Given the description of an element on the screen output the (x, y) to click on. 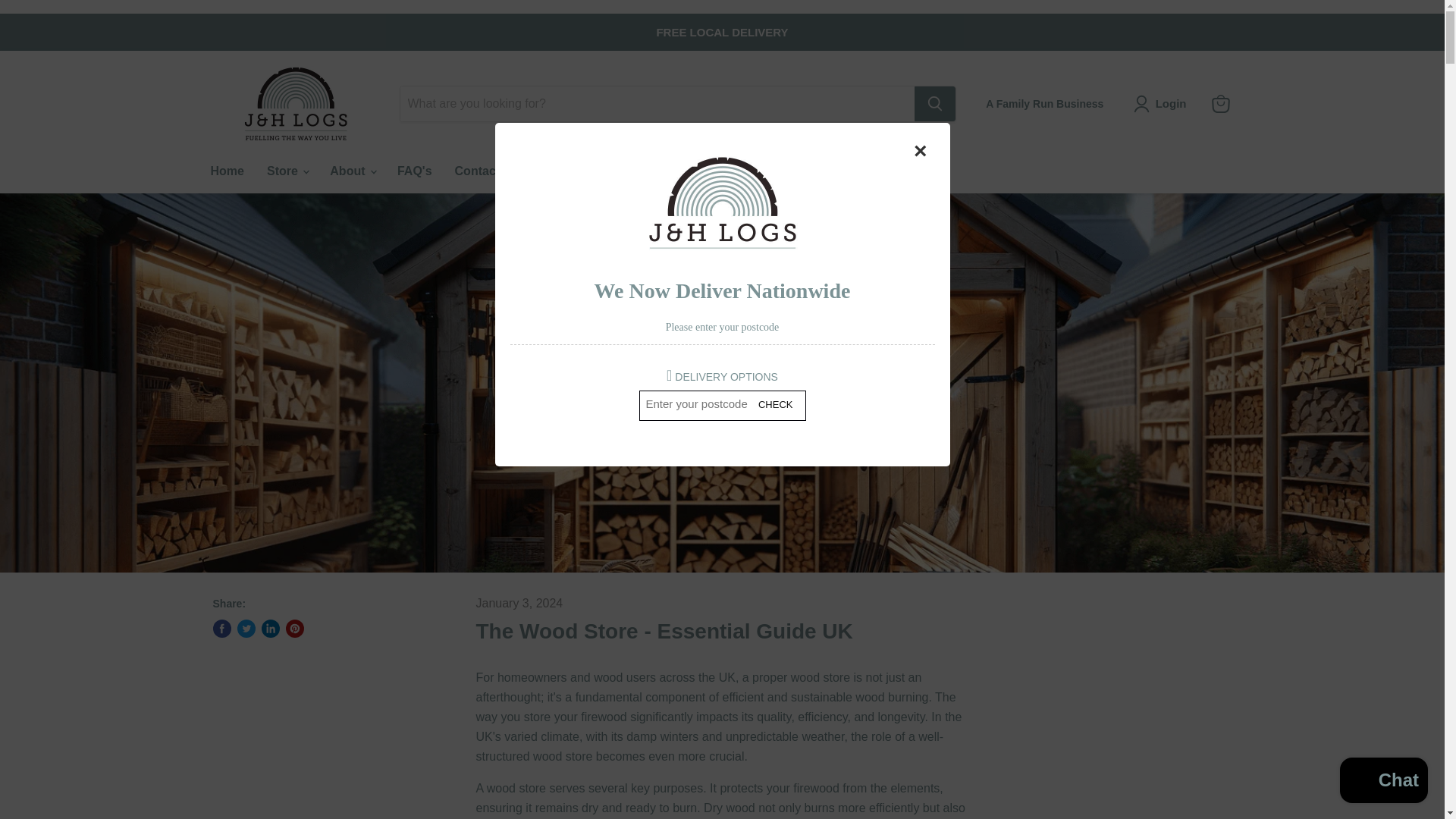
View cart (1220, 103)
FAQ's (414, 171)
Shopify online store chat (1383, 781)
A Family Run Business (1044, 103)
Login (1171, 104)
Home (226, 171)
